Given the description of an element on the screen output the (x, y) to click on. 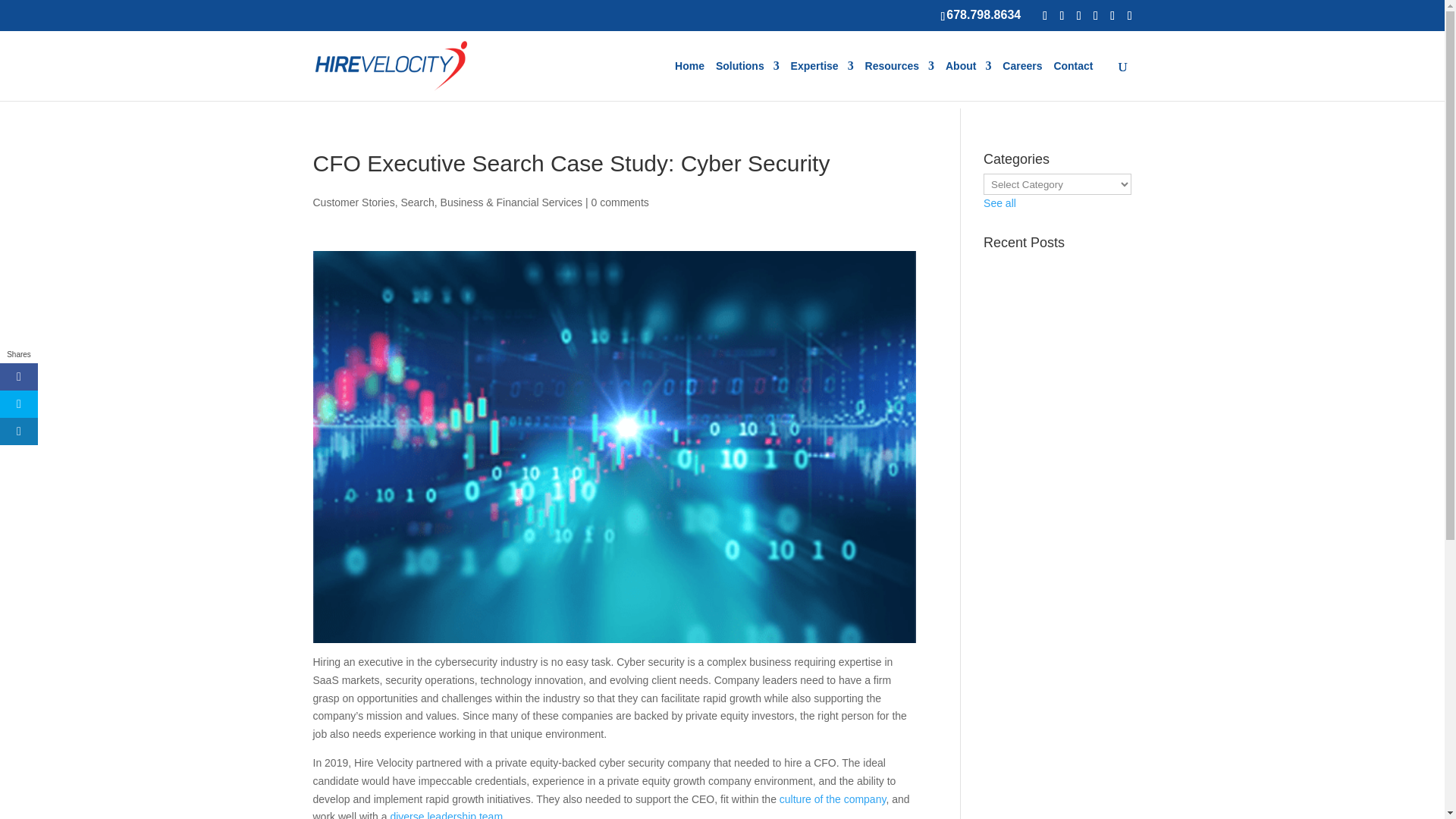
Expertise (821, 80)
Solutions (747, 80)
Resources (899, 80)
